Given the description of an element on the screen output the (x, y) to click on. 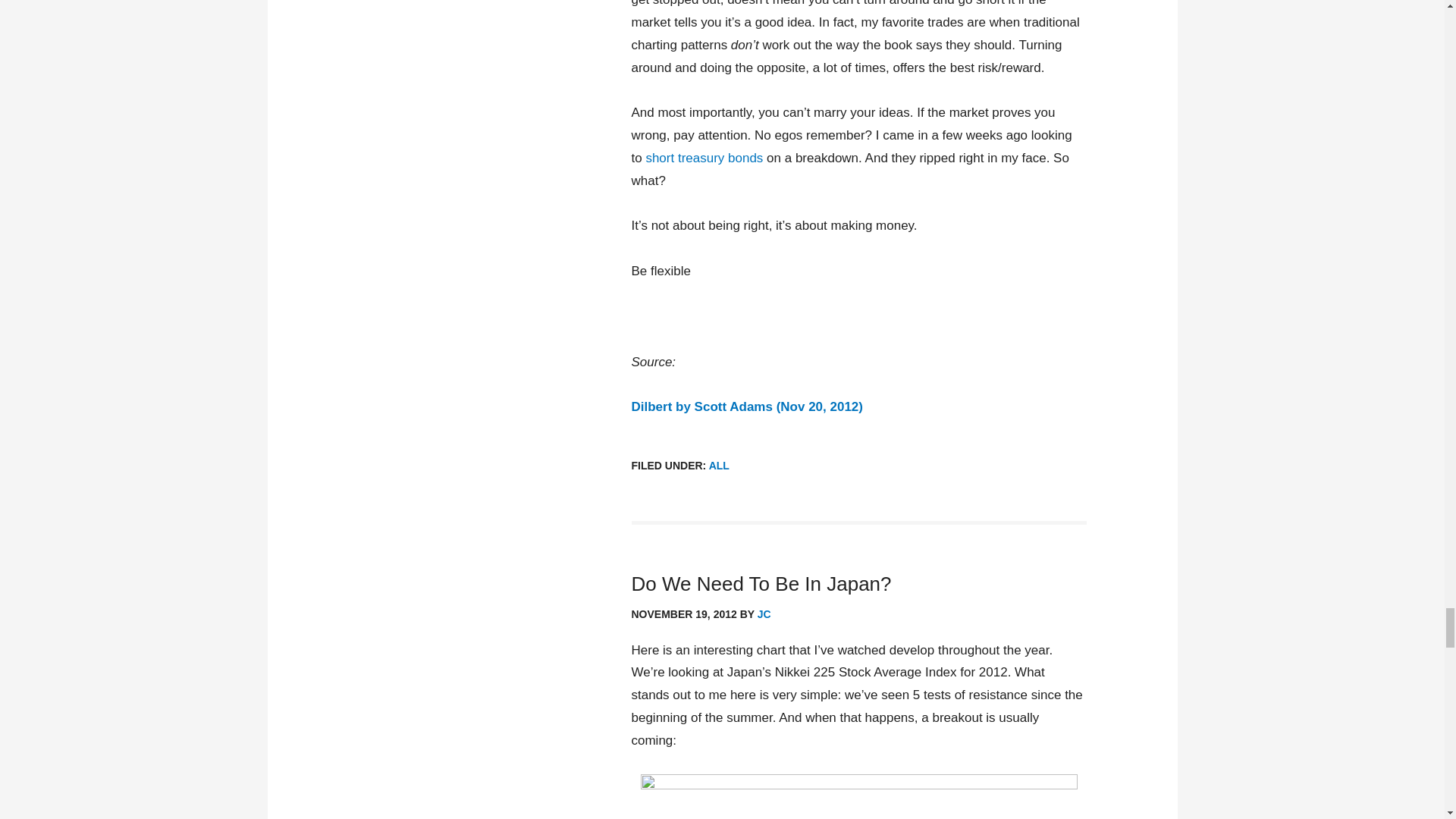
11-19-12 Nikkei (858, 796)
